Given the description of an element on the screen output the (x, y) to click on. 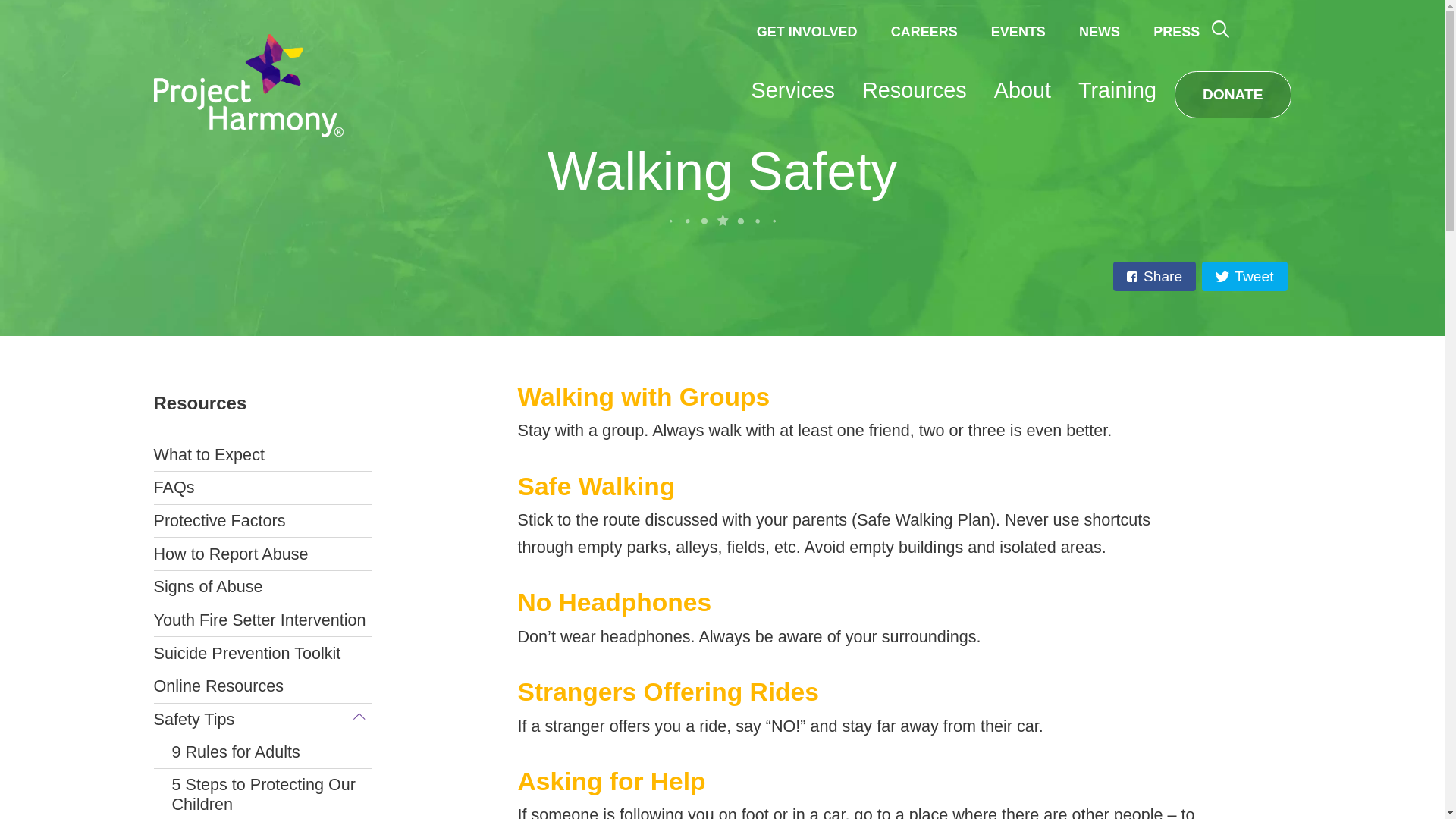
Responding to children in need and protecting their safety (913, 94)
Increasing awareness on issues regarding child abuse (1117, 94)
